Given the description of an element on the screen output the (x, y) to click on. 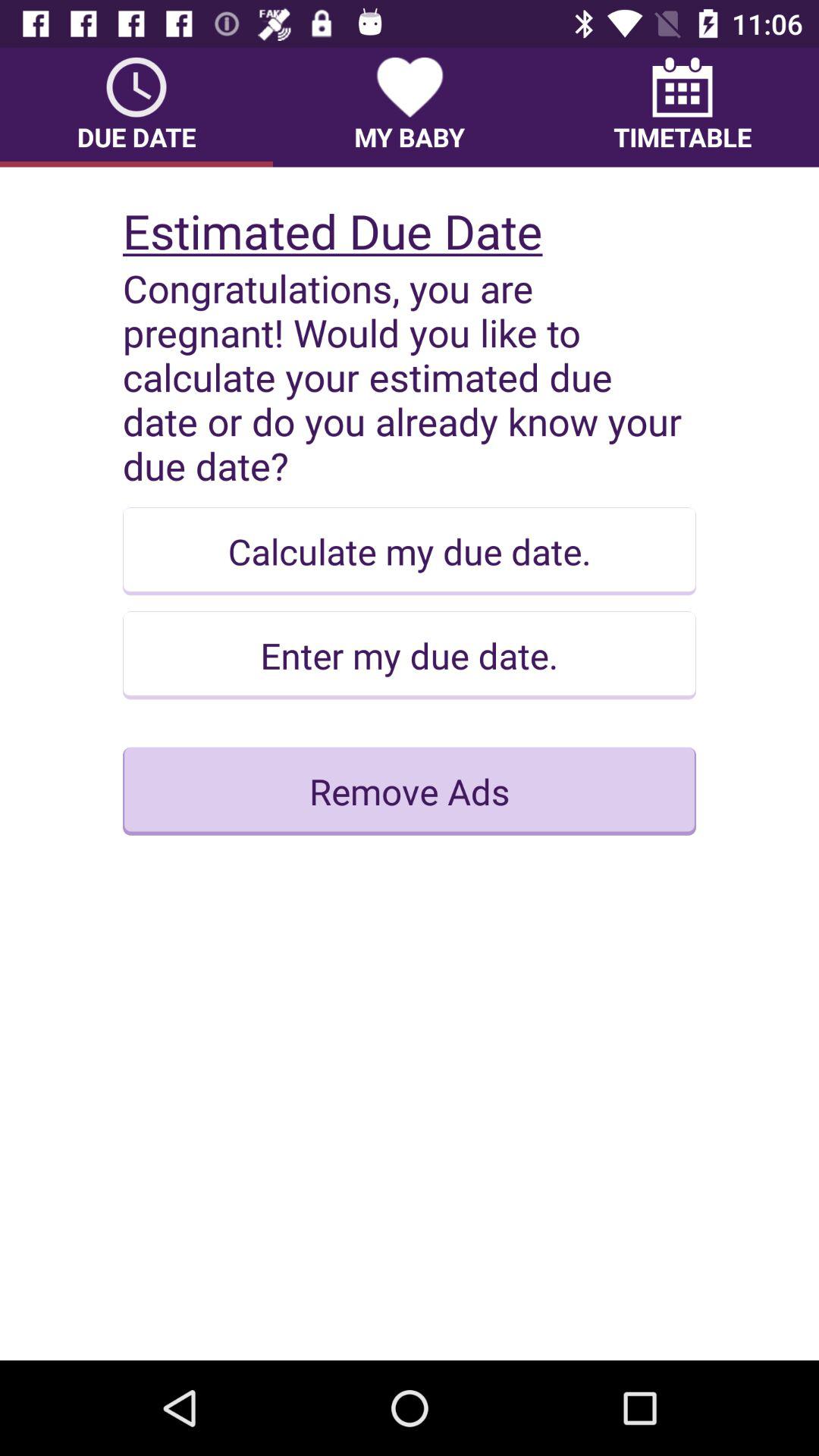
press icon above estimated due date item (409, 107)
